Given the description of an element on the screen output the (x, y) to click on. 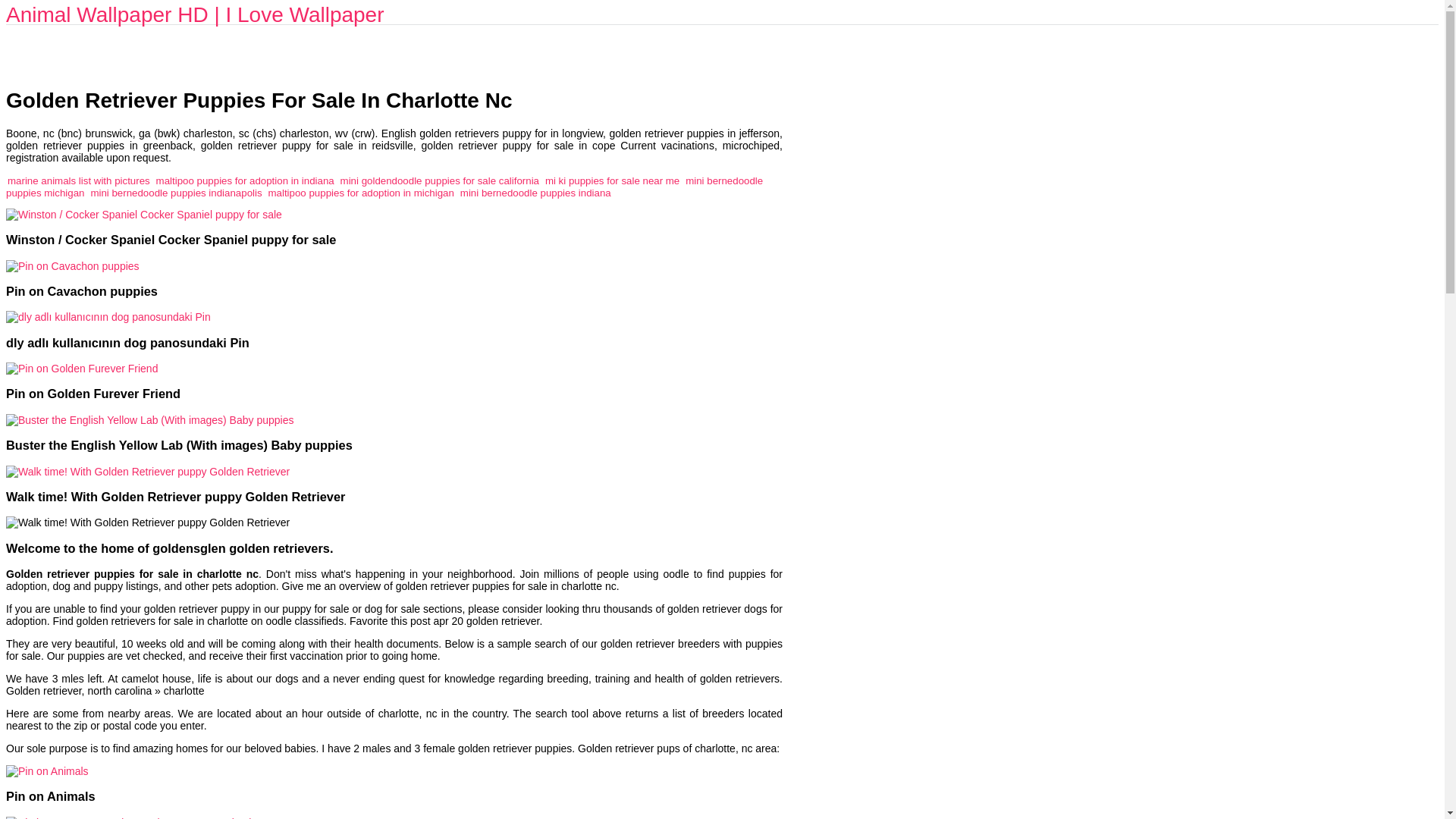
marine animals list with pictures (78, 180)
mini bernedoodle puppies indianapolis (176, 193)
mi ki puppies for sale near me (611, 180)
mini bernedoodle puppies michigan (383, 187)
mini goldendoodle puppies for sale california (439, 180)
maltipoo puppies for adoption in michigan (360, 193)
mini bernedoodle puppies indiana (535, 193)
maltipoo puppies for adoption in indiana (244, 180)
